Given the description of an element on the screen output the (x, y) to click on. 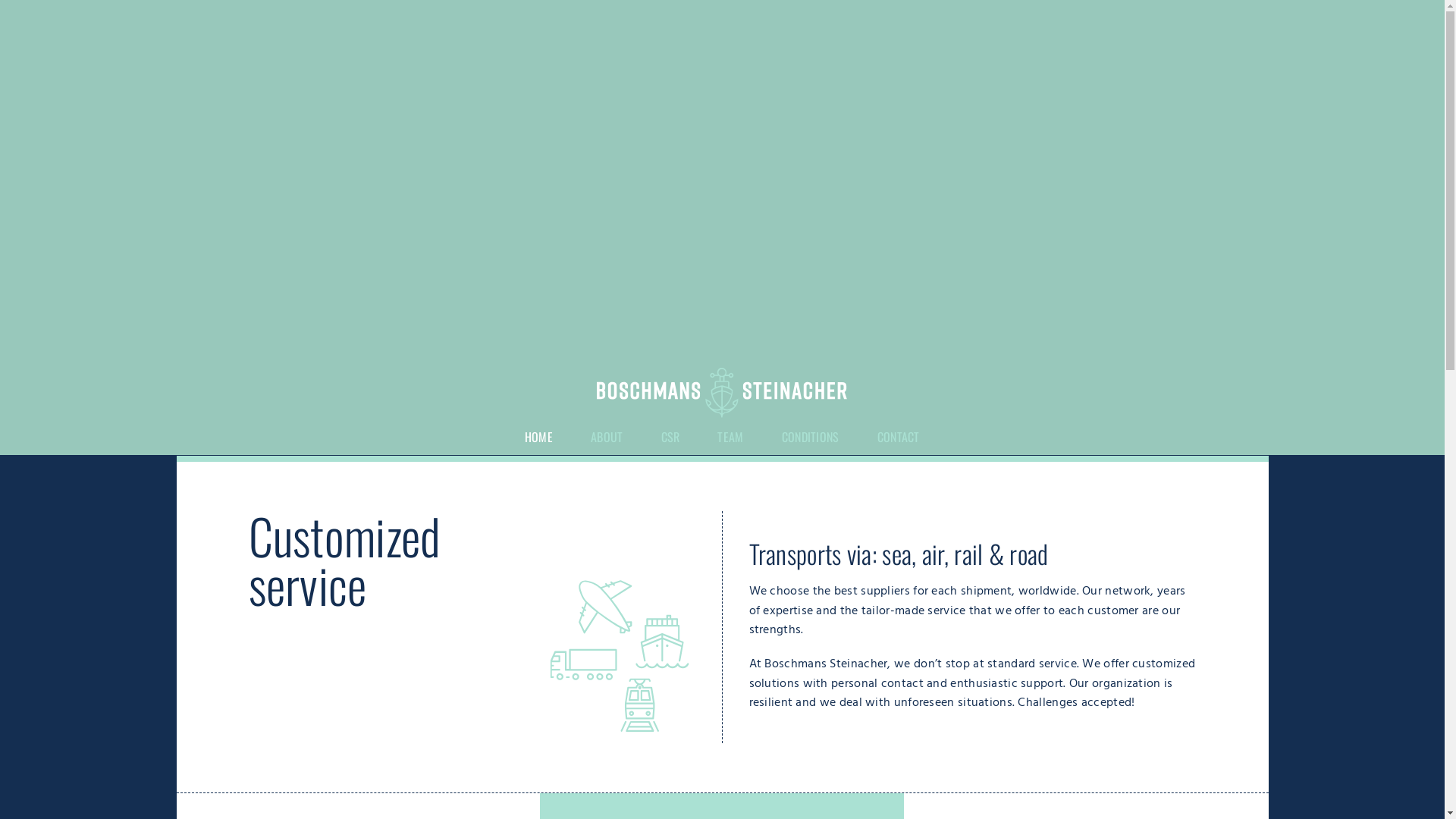
TEAM Element type: text (730, 436)
HOME Element type: text (538, 436)
CONDITIONS Element type: text (810, 436)
CONTACT Element type: text (898, 436)
CSR Element type: text (670, 436)
ABOUT Element type: text (606, 436)
